Given the description of an element on the screen output the (x, y) to click on. 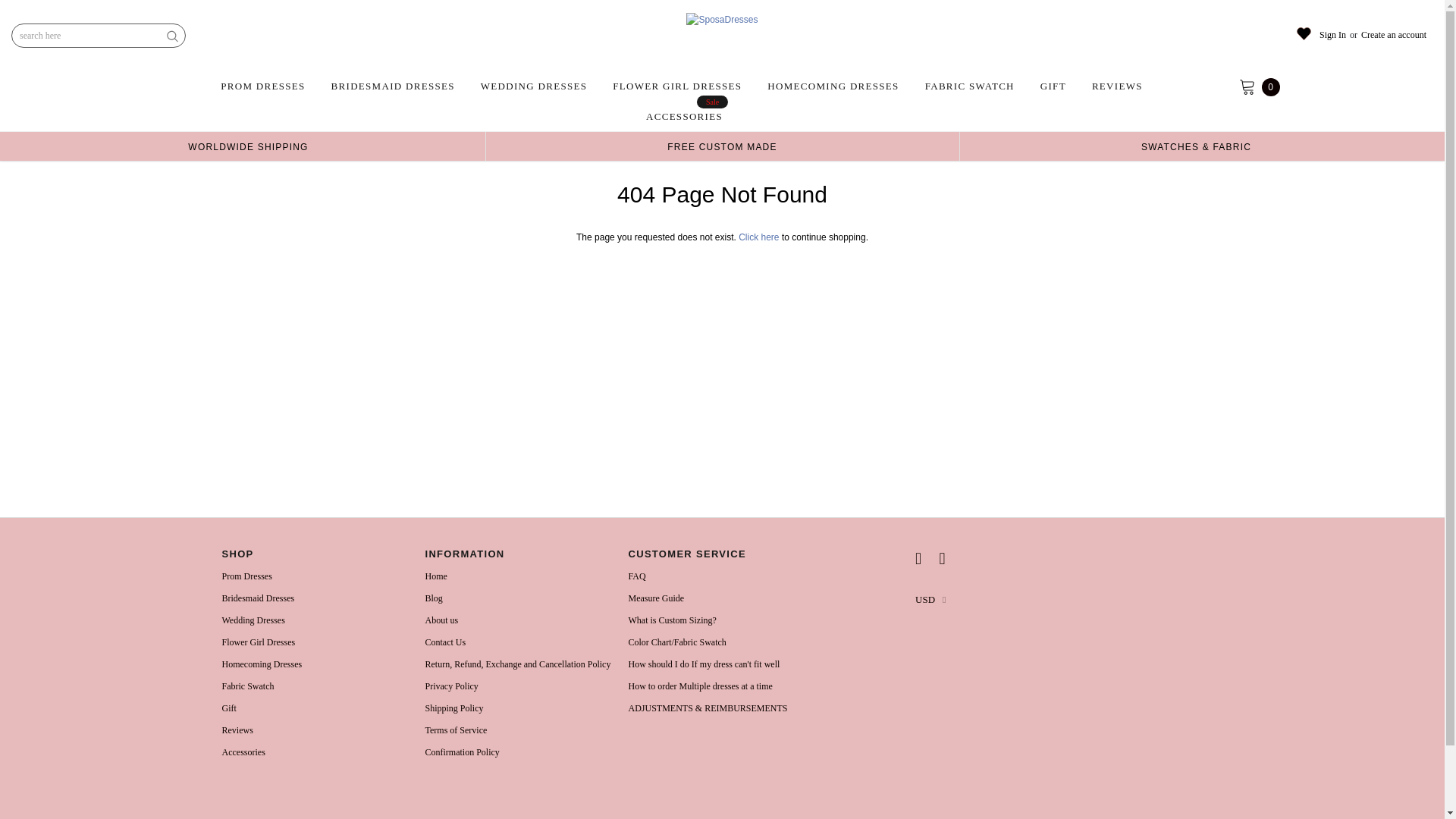
Create an account (1393, 34)
Sign In (1332, 34)
PROM DRESSES (265, 86)
BRIDESMAID DRESSES (393, 86)
